Given the description of an element on the screen output the (x, y) to click on. 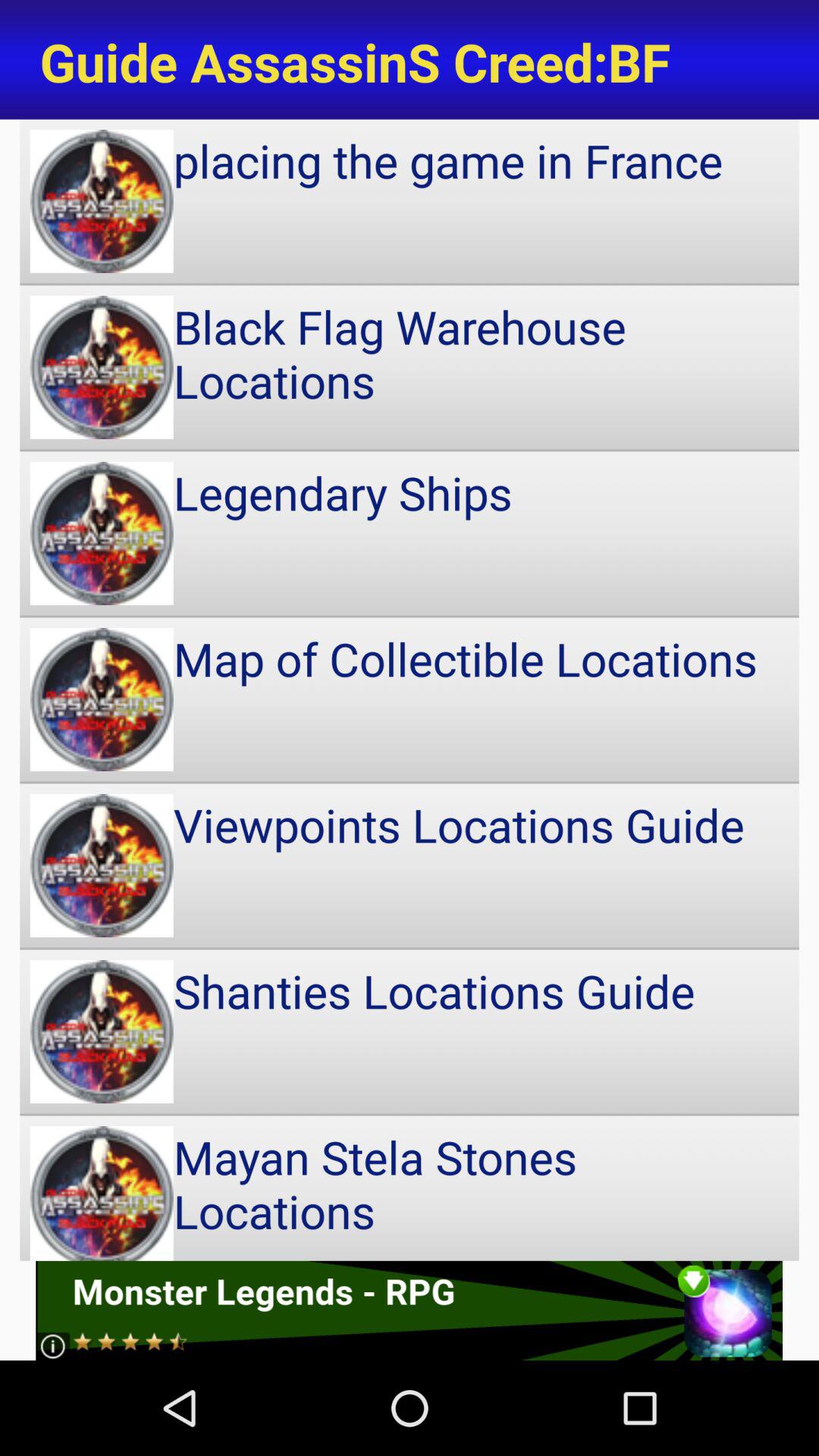
flip until black flag warehouse (409, 367)
